Given the description of an element on the screen output the (x, y) to click on. 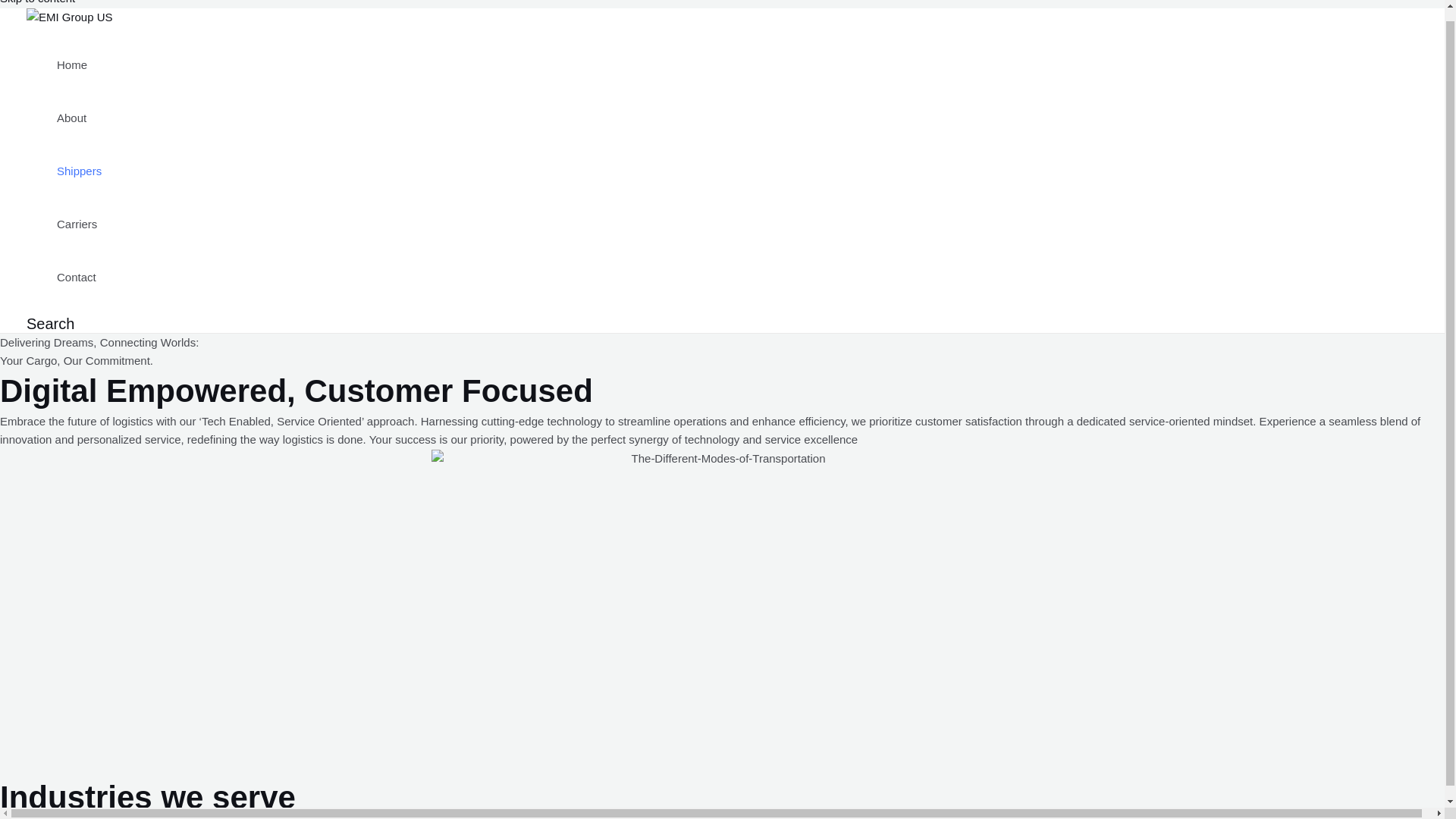
Shippers (78, 170)
Search (50, 323)
Home (78, 63)
Skip to content (37, 2)
Carriers (78, 223)
About (78, 117)
Contact (78, 276)
Skip to content (37, 2)
